Given the description of an element on the screen output the (x, y) to click on. 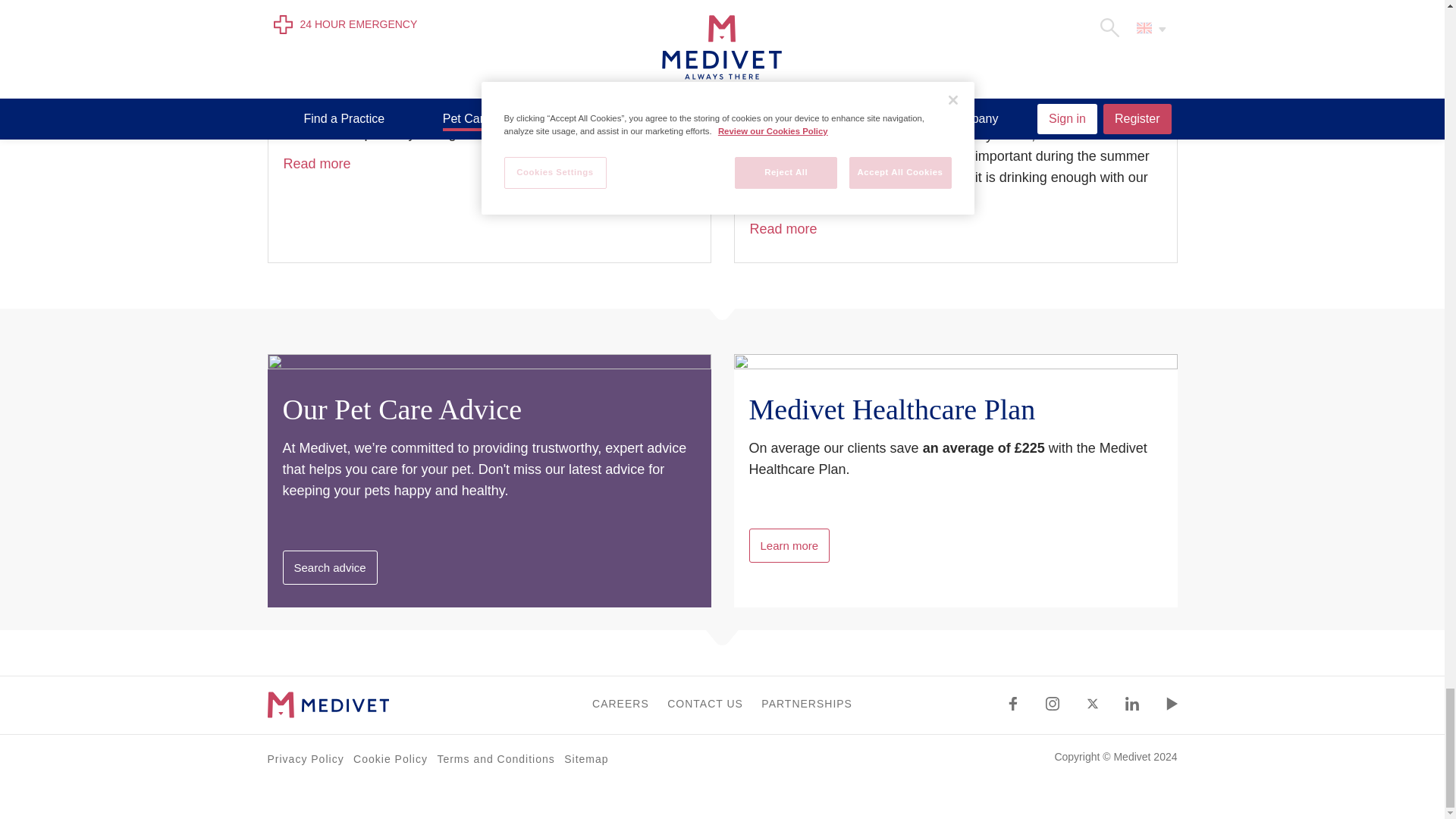
privacy policy (304, 758)
cookie policy (390, 758)
careers (620, 703)
contact us (704, 703)
Terms and Conditions (495, 758)
